Given the description of an element on the screen output the (x, y) to click on. 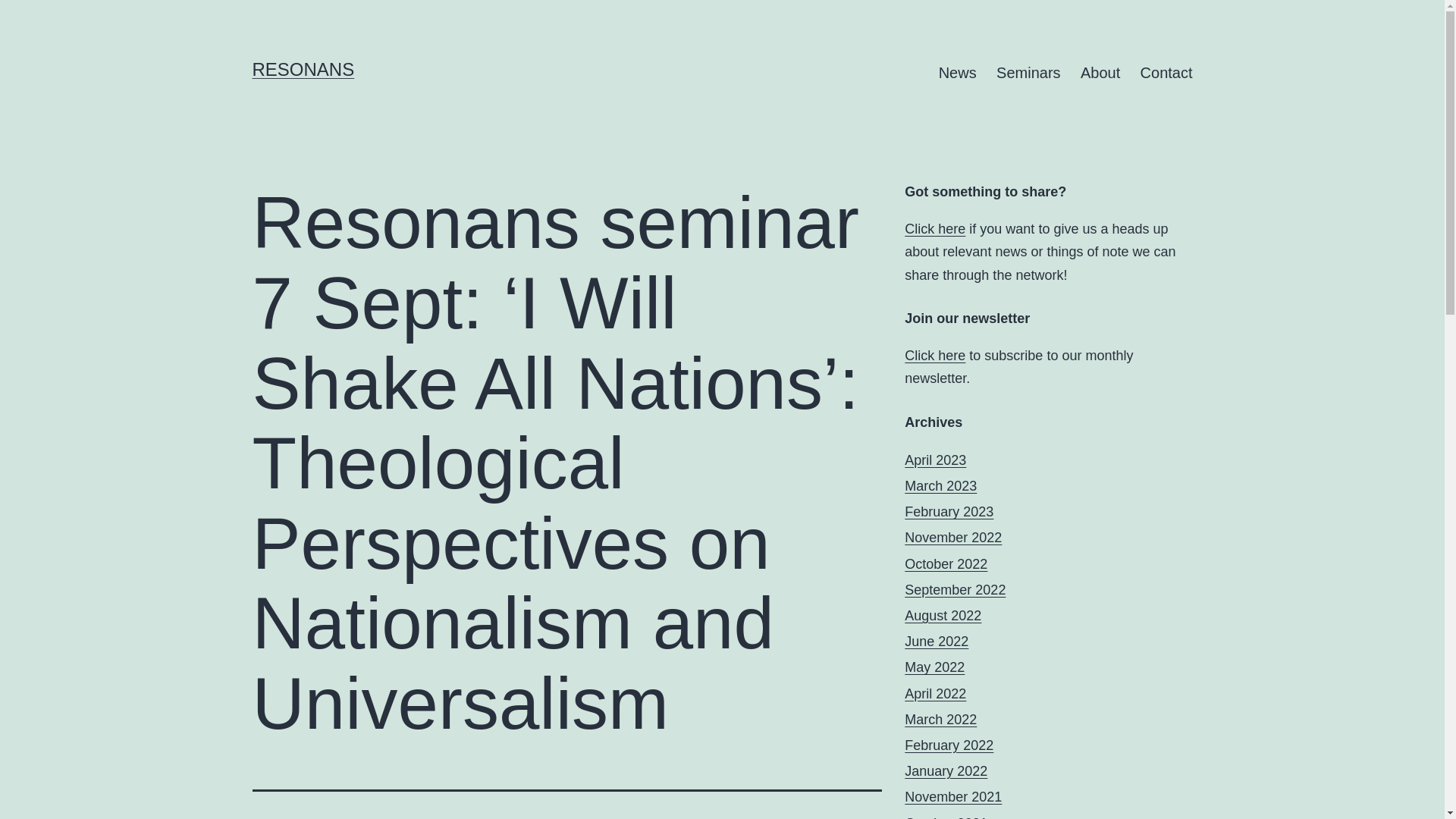
Click here (934, 355)
Click here (934, 228)
November 2022 (952, 537)
September 2022 (955, 589)
April 2023 (935, 459)
March 2023 (940, 485)
April 2022 (935, 693)
May 2022 (933, 667)
February 2022 (948, 744)
August 2022 (942, 615)
June 2022 (936, 641)
October 2021 (945, 817)
News (956, 72)
February 2023 (948, 511)
October 2022 (945, 563)
